Given the description of an element on the screen output the (x, y) to click on. 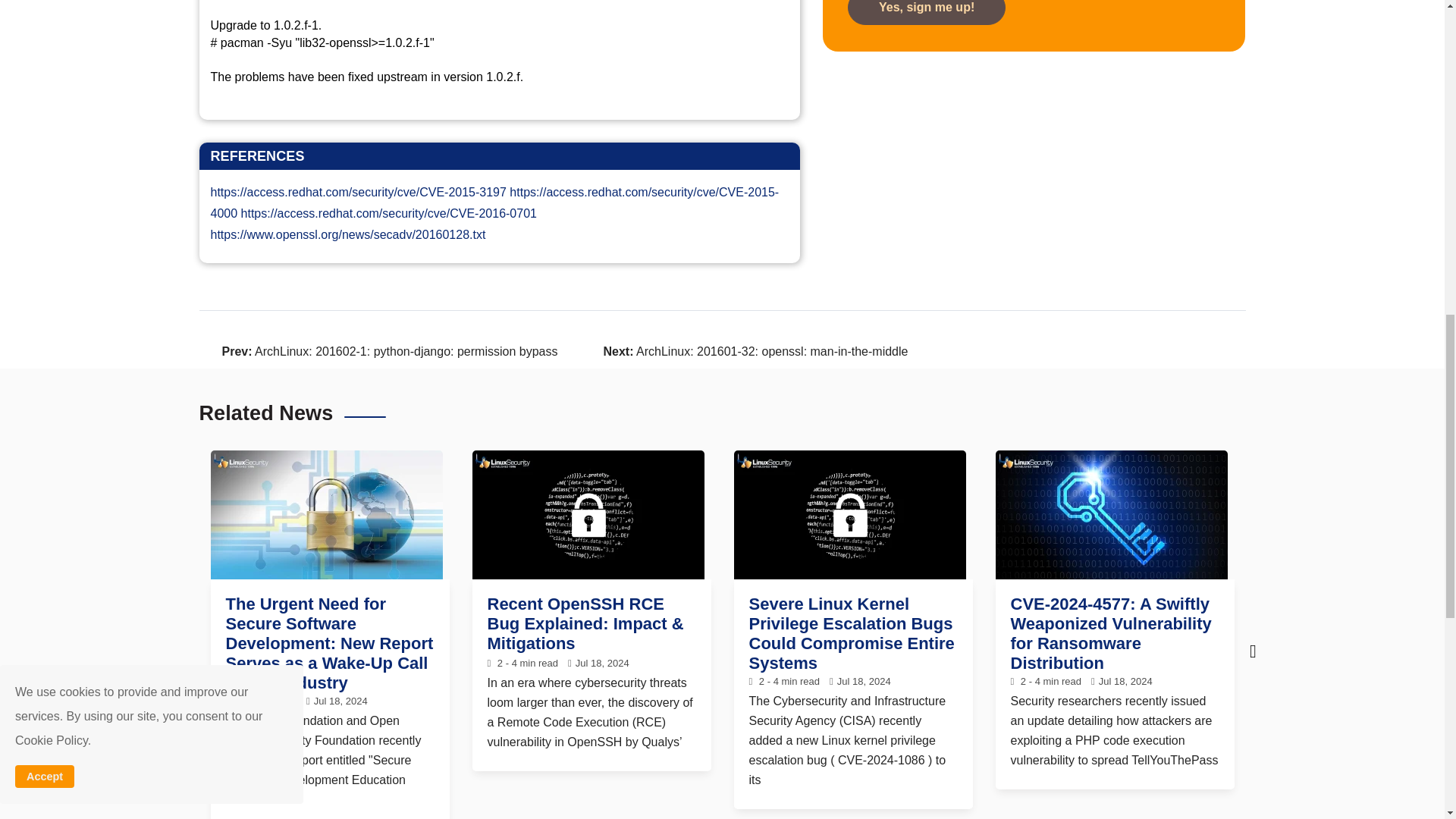
Yes, sign me up! (926, 12)
